Given the description of an element on the screen output the (x, y) to click on. 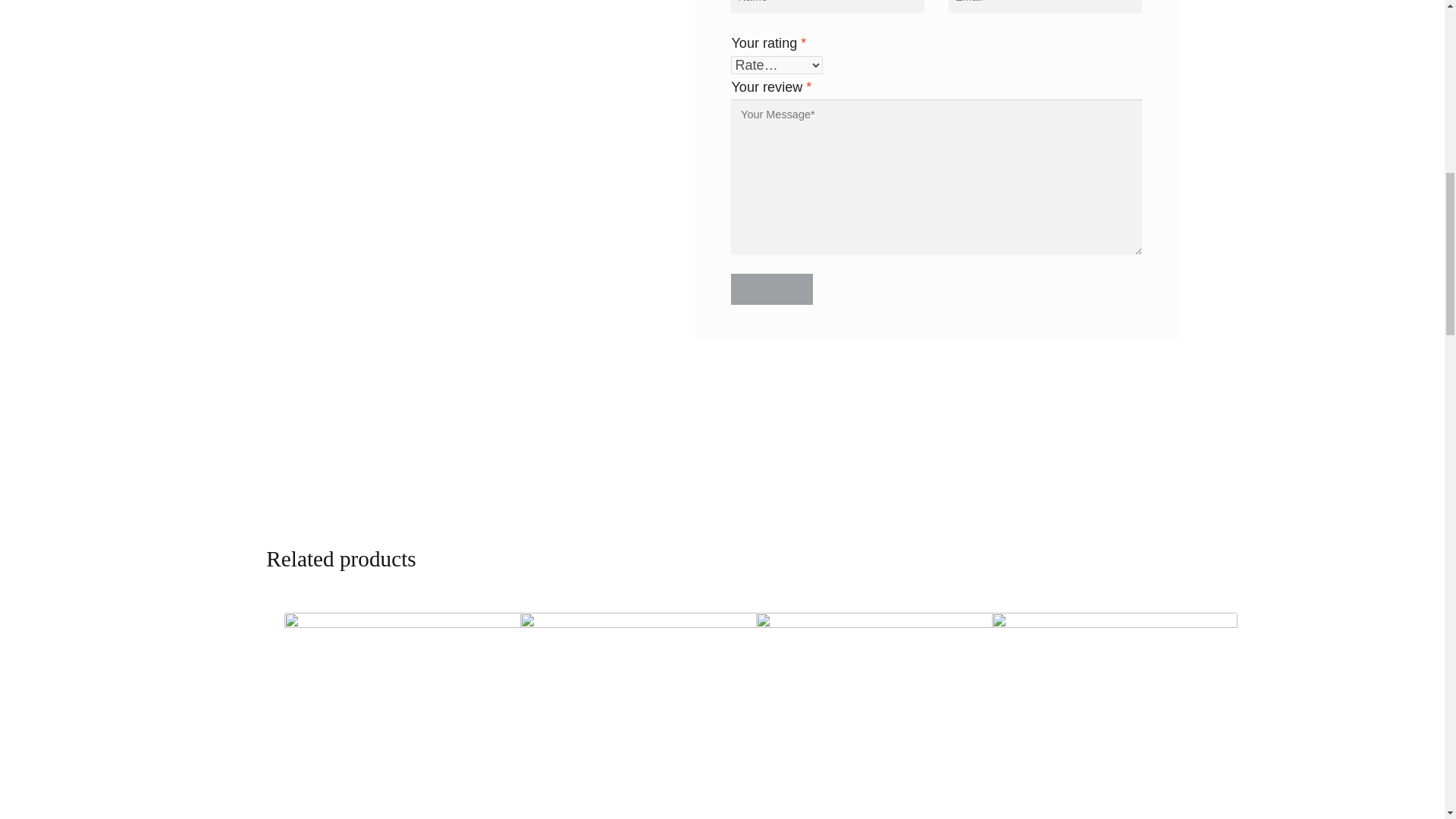
Submit (771, 288)
